Given the description of an element on the screen output the (x, y) to click on. 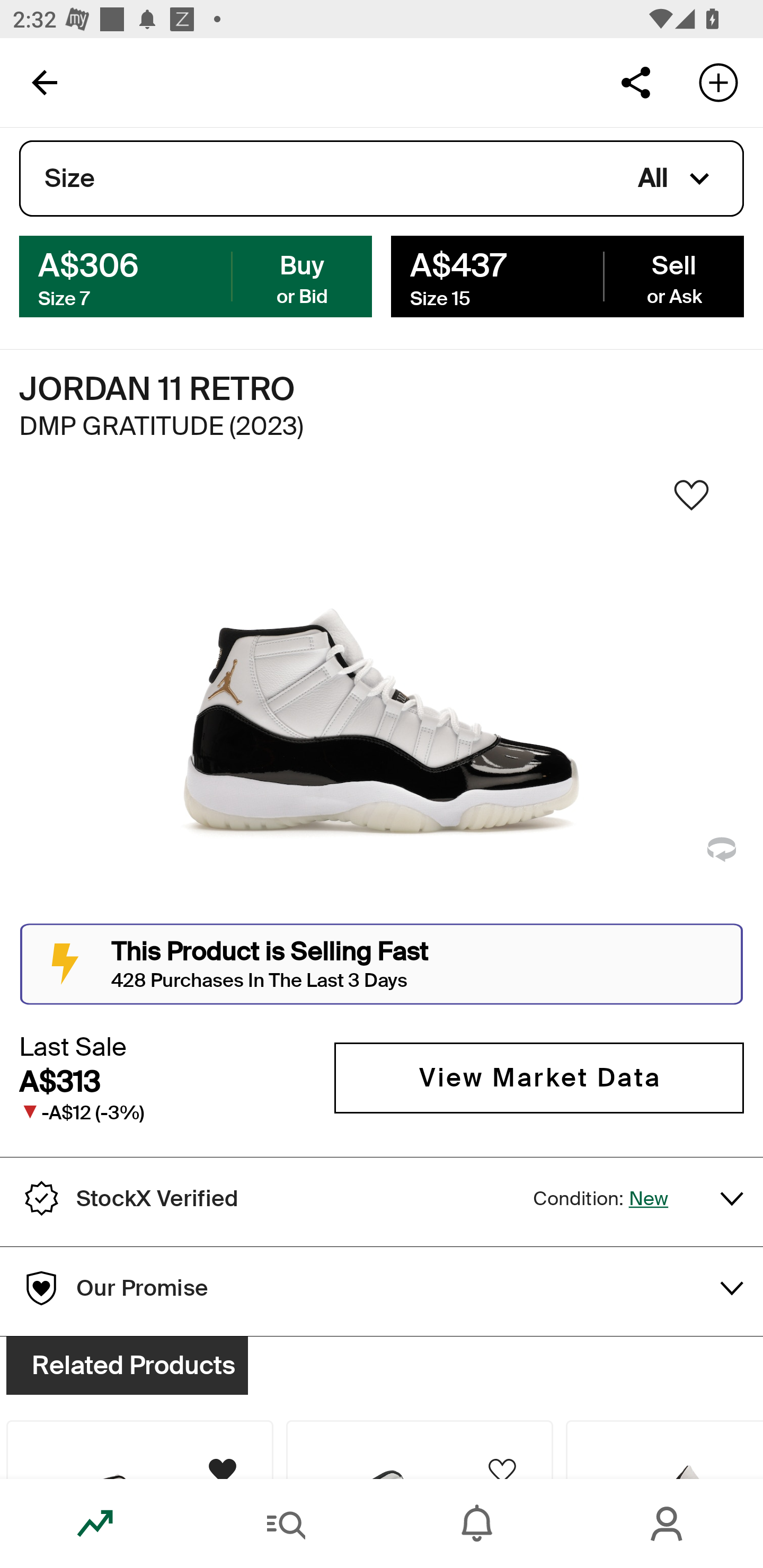
Share (635, 81)
Add (718, 81)
Size All (381, 178)
A$306 Buy Size 7 or Bid (195, 275)
A$437 Sell Size 15 or Ask (566, 275)
Sneaker Image (381, 699)
View Market Data (538, 1077)
Search (285, 1523)
Inbox (476, 1523)
Account (667, 1523)
